Given the description of an element on the screen output the (x, y) to click on. 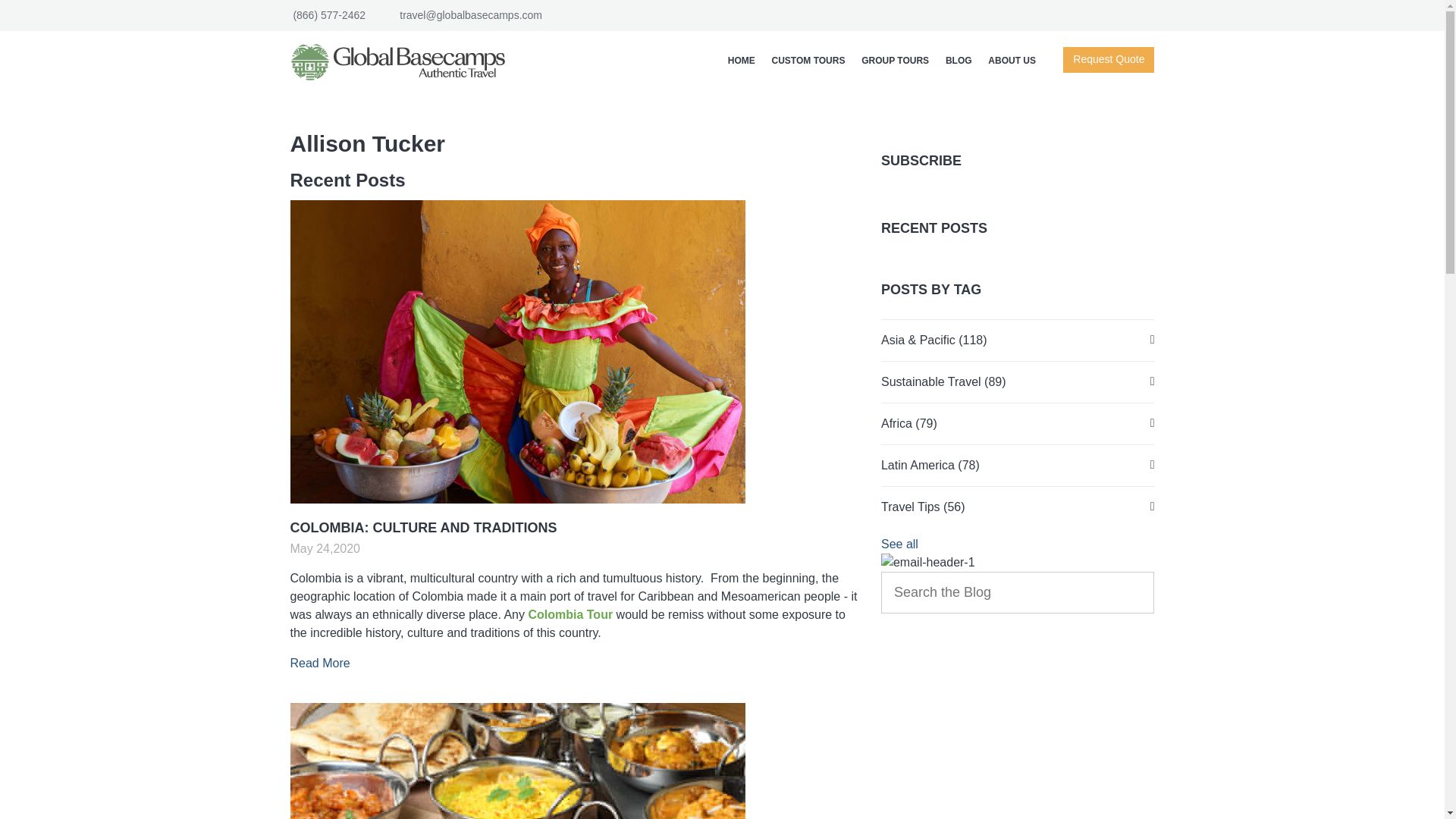
email-header-1 (927, 562)
CUSTOM TOURS (807, 60)
logo.png (402, 62)
